Given the description of an element on the screen output the (x, y) to click on. 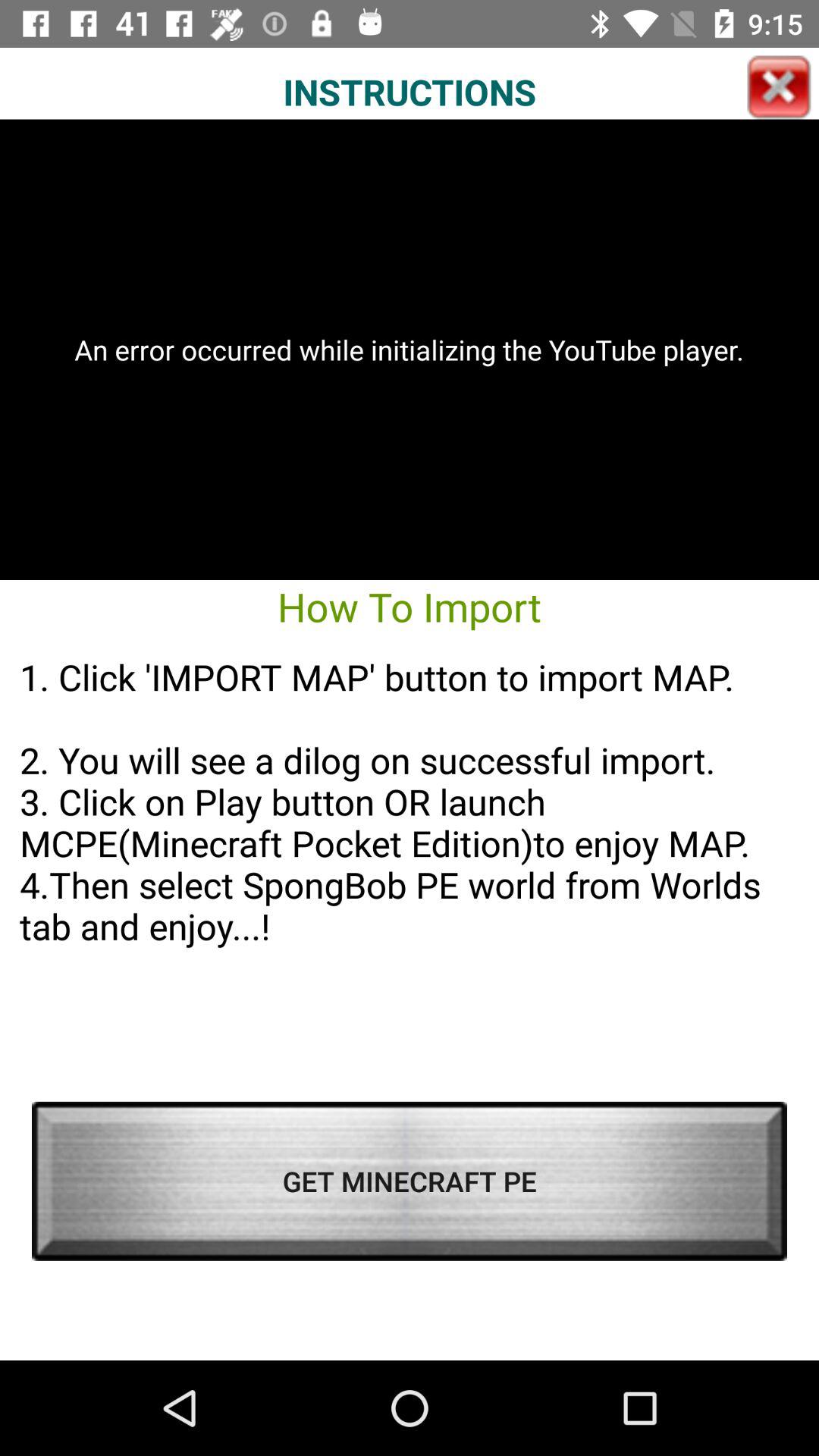
open item below 1 click import icon (409, 1180)
